Given the description of an element on the screen output the (x, y) to click on. 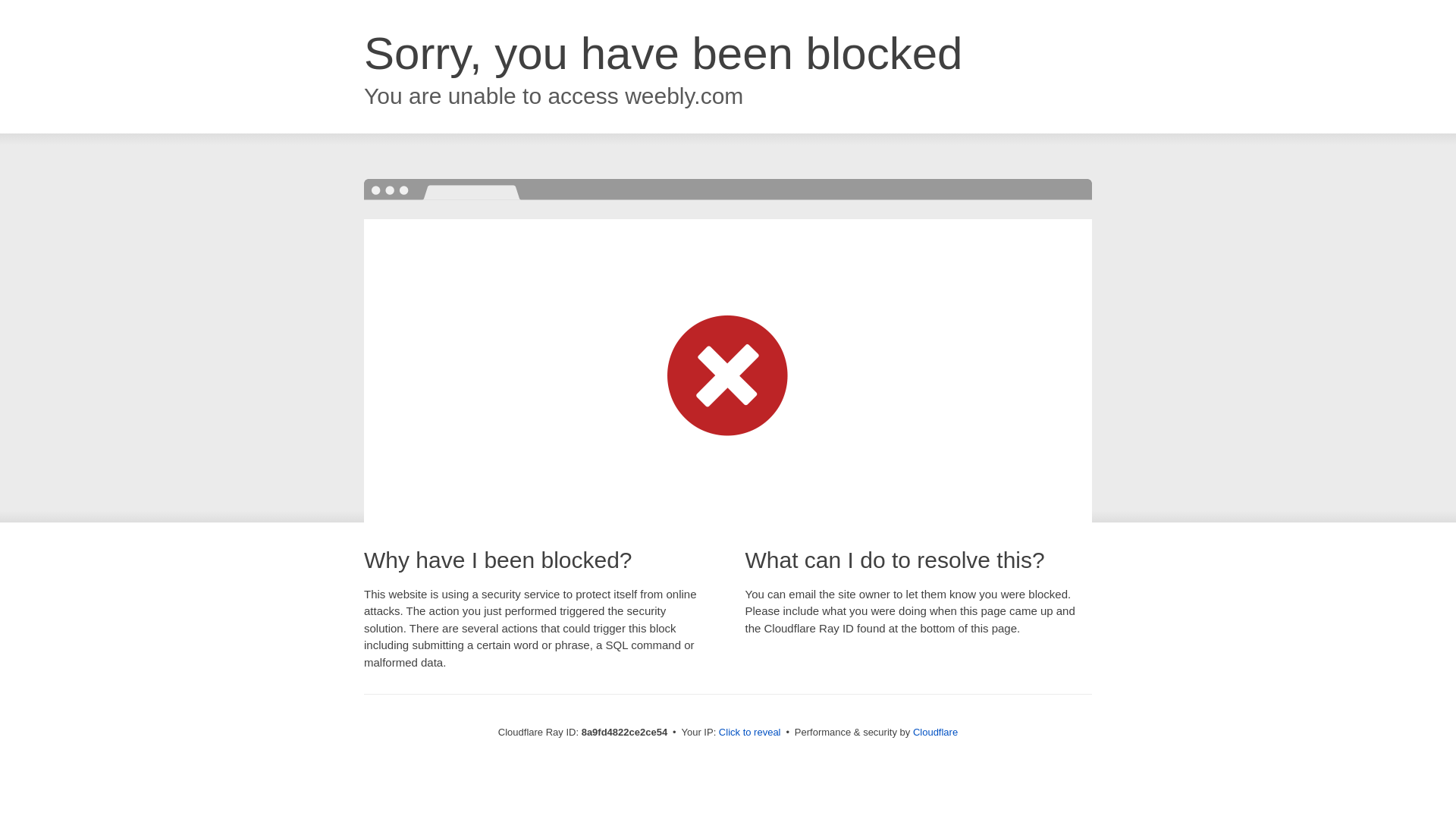
Click to reveal (749, 732)
Cloudflare (935, 731)
